Given the description of an element on the screen output the (x, y) to click on. 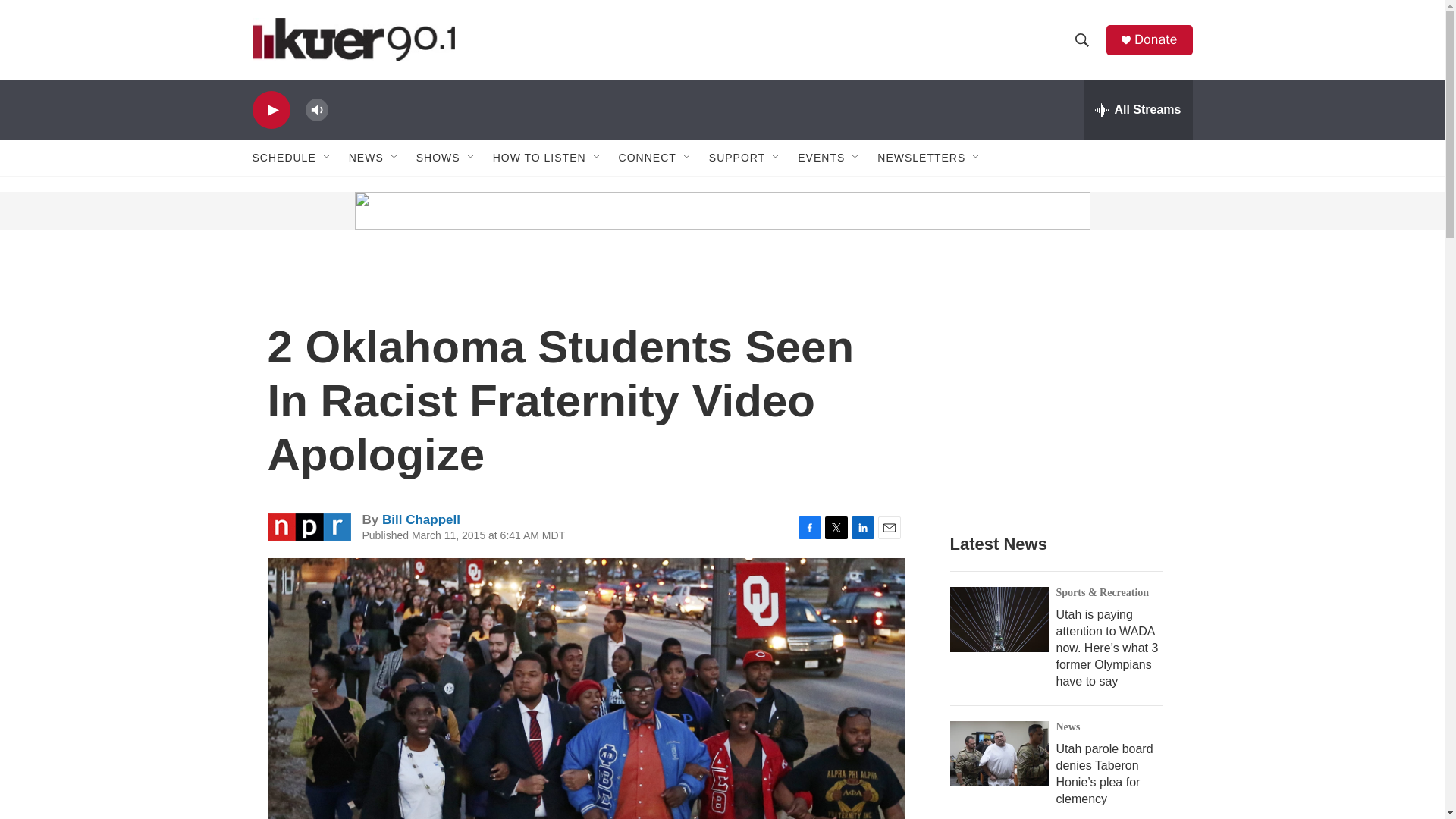
3rd party ad content (367, 210)
3rd party ad content (1062, 388)
